Given the description of an element on the screen output the (x, y) to click on. 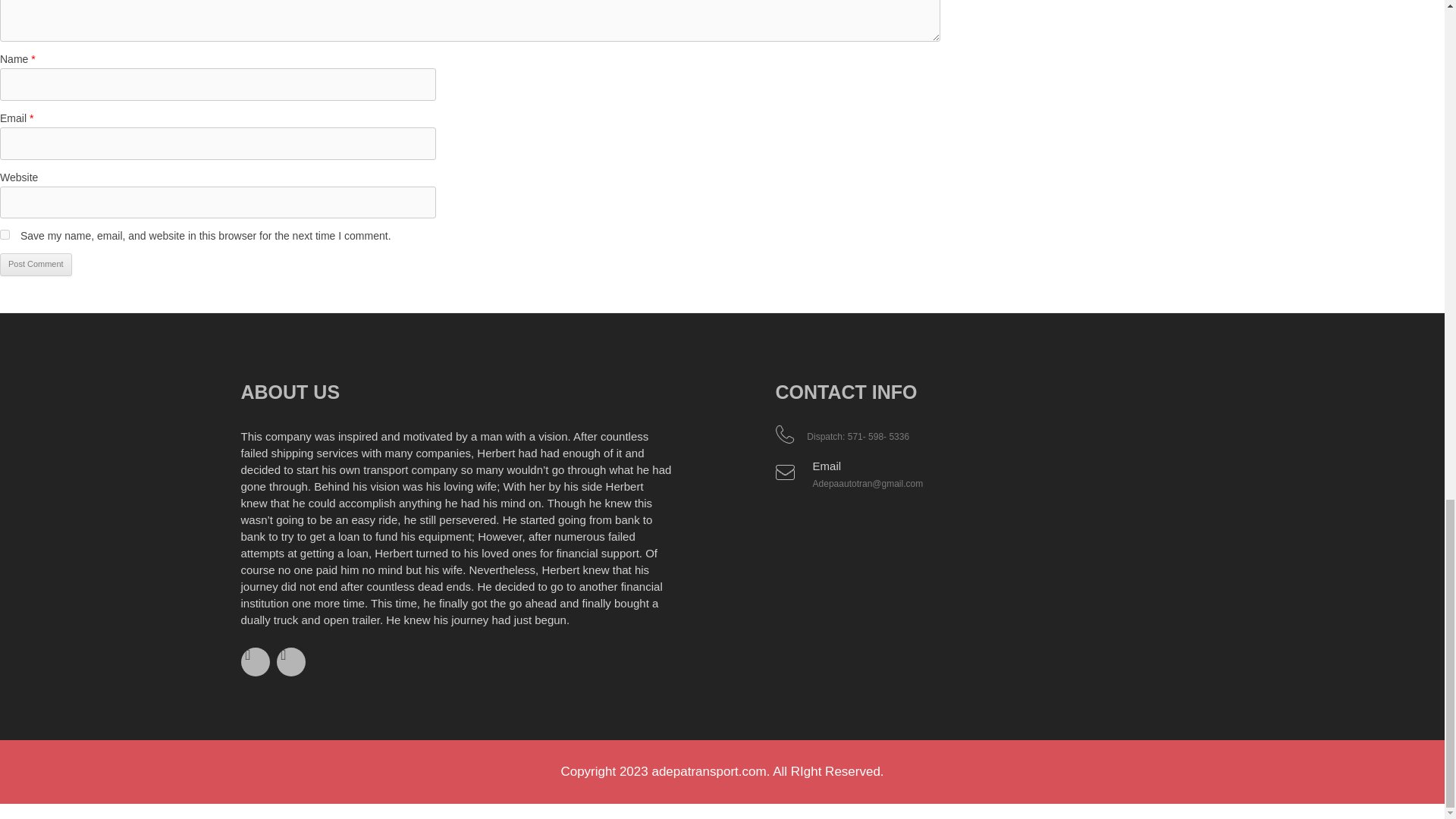
Post Comment (35, 264)
yes (5, 234)
Post Comment (35, 264)
Email (826, 465)
